Given the description of an element on the screen output the (x, y) to click on. 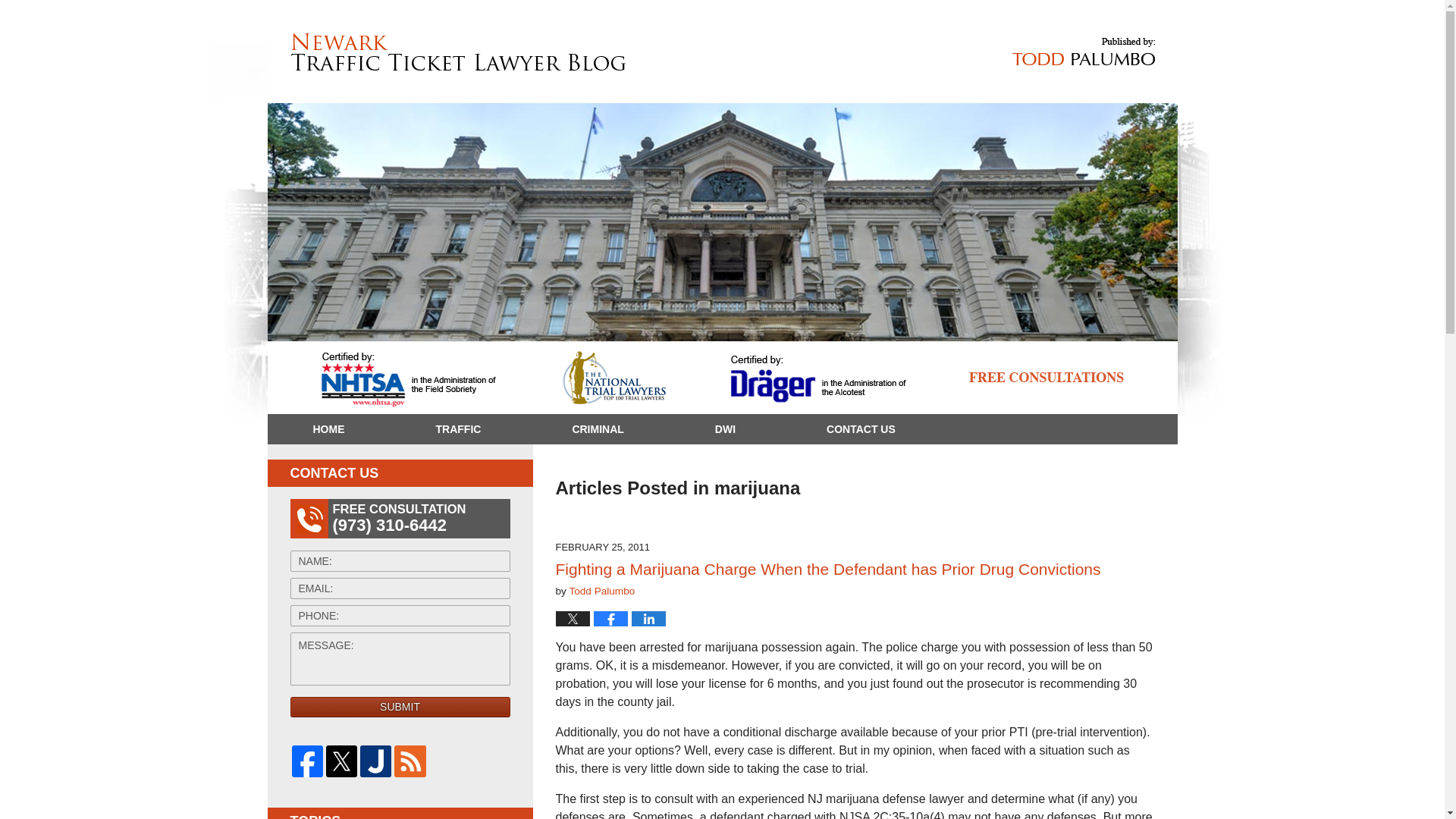
Twitter (341, 760)
DWI (724, 429)
Please enter a valid phone number. (399, 615)
Facebook (306, 760)
SUBMIT (399, 706)
Feed (409, 760)
HOME (328, 429)
TRAFFIC (457, 429)
Todd Palumbo (601, 591)
Newark Traffic Ticket Lawyer Blog (458, 52)
CONTACT US (860, 429)
Justia (375, 760)
CRIMINAL (596, 429)
